Given the description of an element on the screen output the (x, y) to click on. 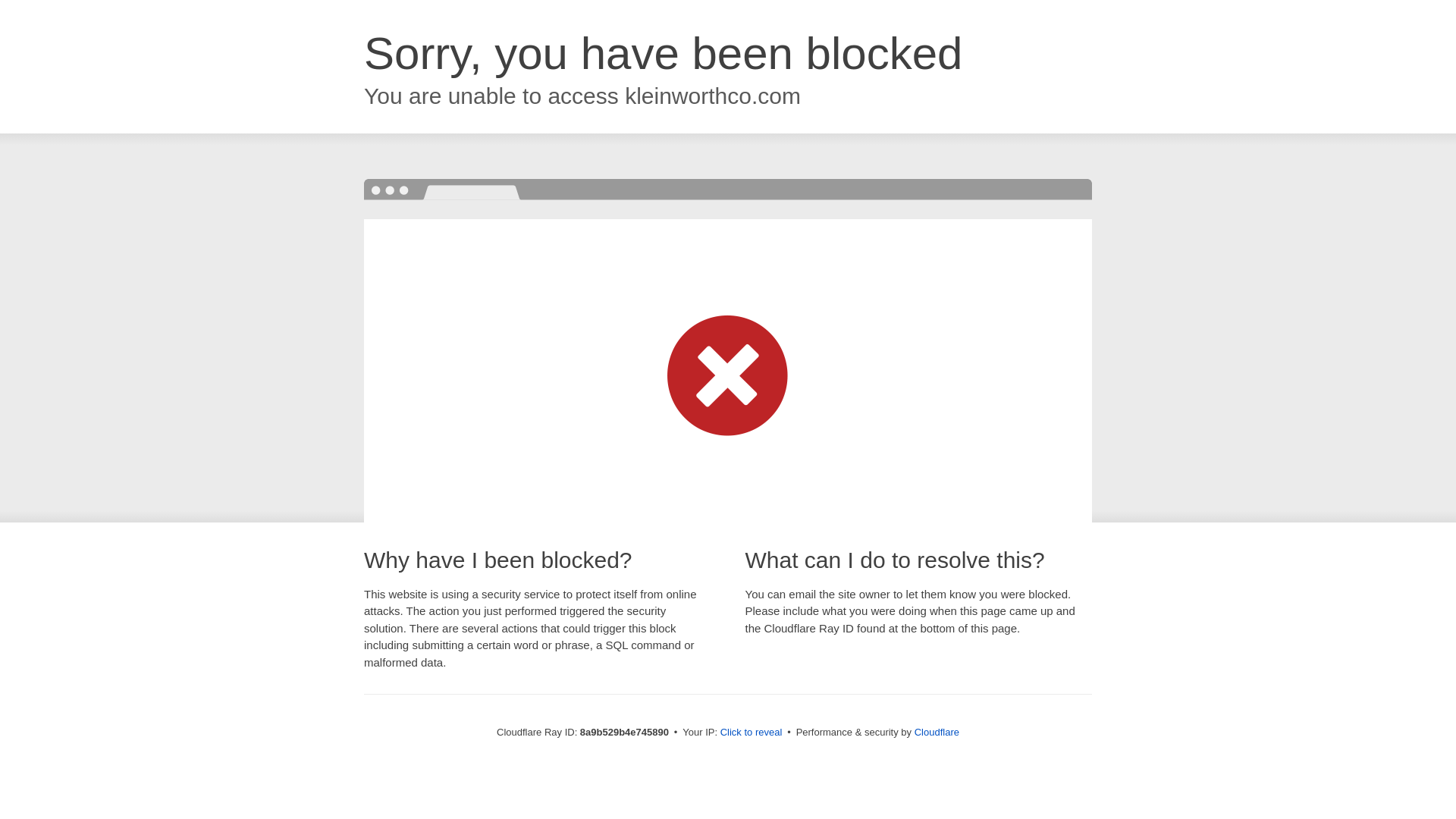
Cloudflare (936, 731)
Click to reveal (751, 732)
